Given the description of an element on the screen output the (x, y) to click on. 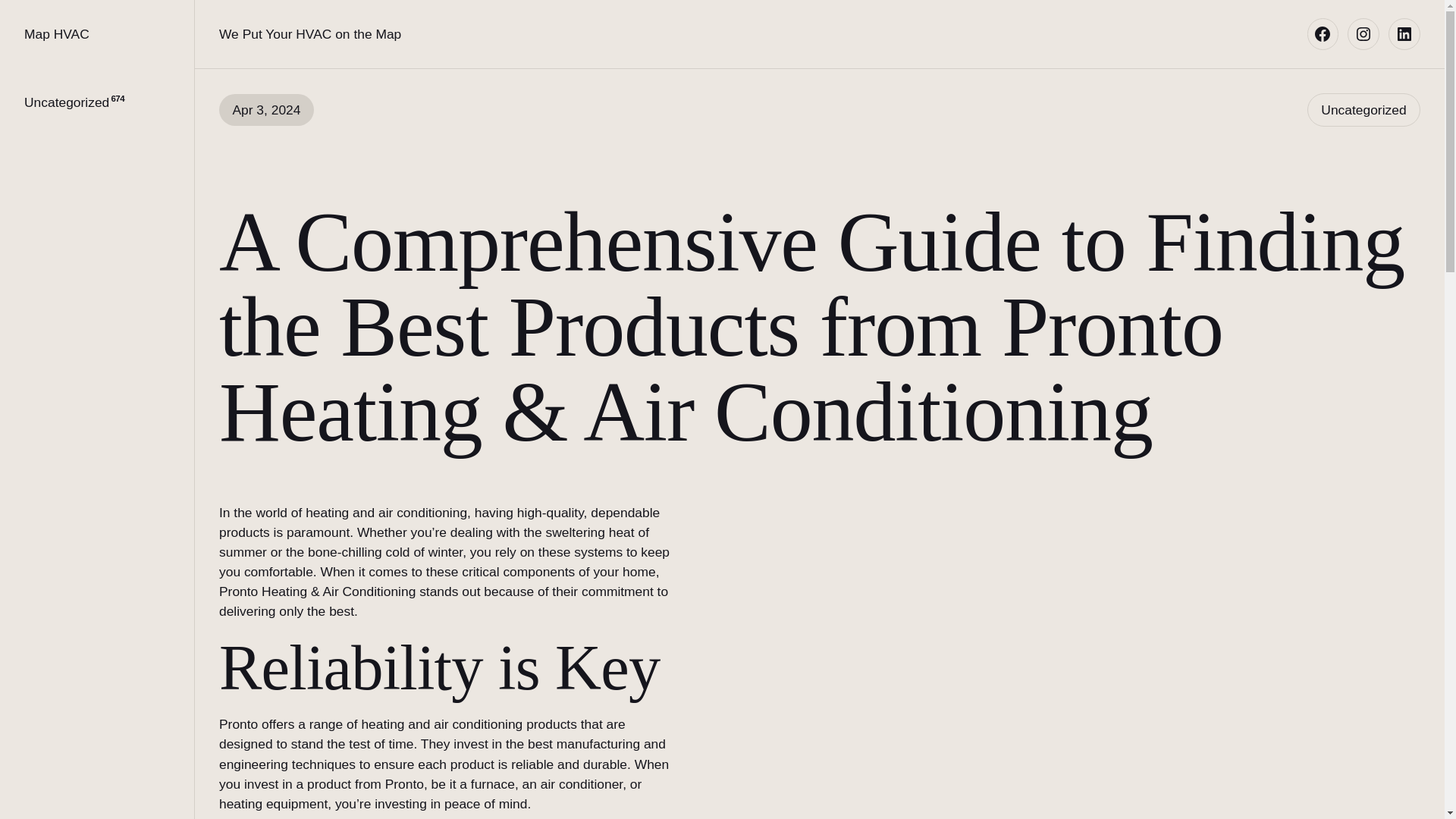
Instagram (1363, 33)
LinkedIn (1405, 33)
Uncategorized (1364, 109)
Uncategorized (66, 102)
Map HVAC (56, 33)
Facebook (1323, 33)
